Given the description of an element on the screen output the (x, y) to click on. 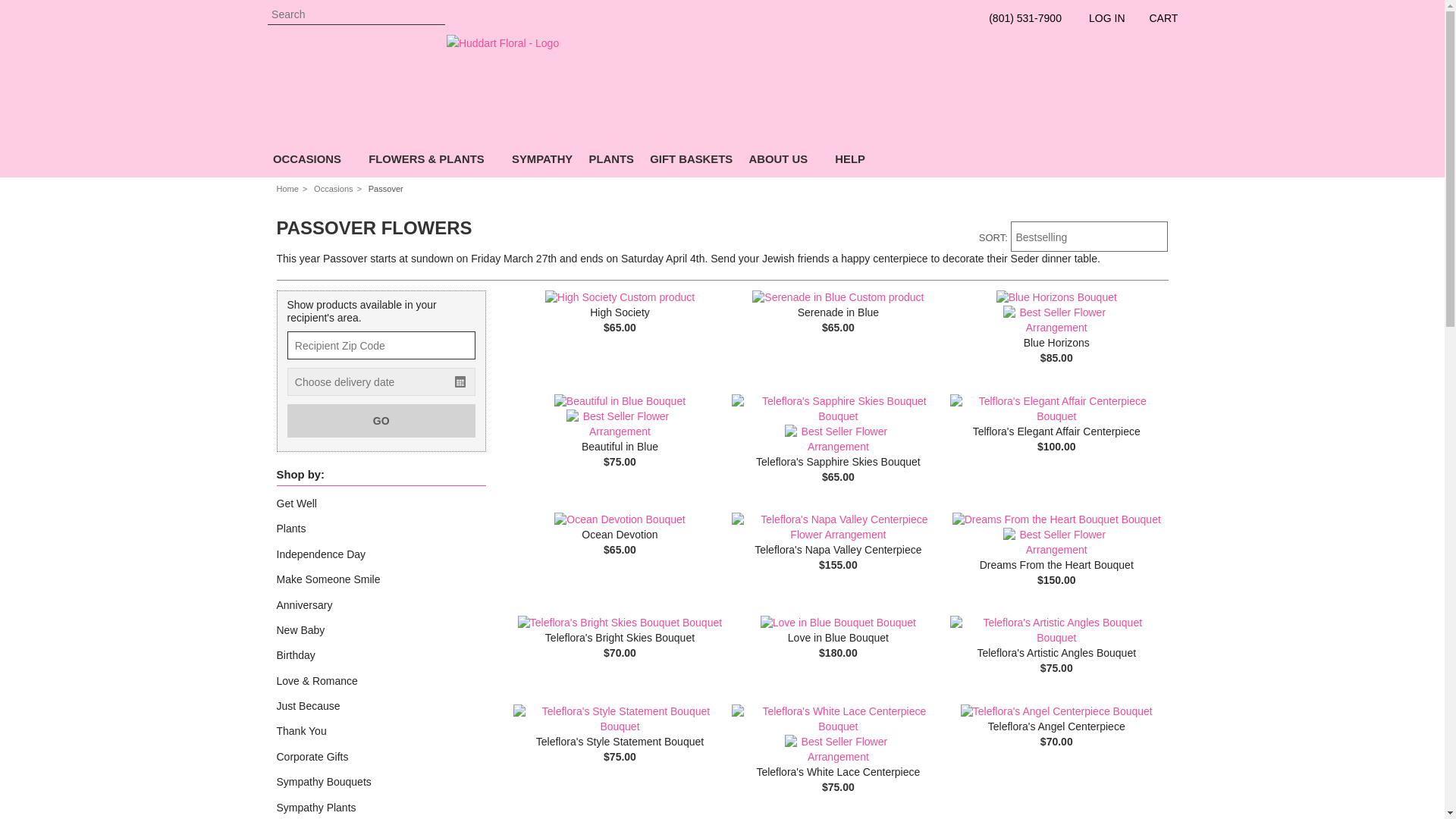
Sort By (1088, 236)
log In (1103, 21)
Go (434, 15)
CART (1156, 23)
LOG IN (1103, 21)
Search (355, 14)
OCCASIONS (312, 161)
GO (380, 420)
